Given the description of an element on the screen output the (x, y) to click on. 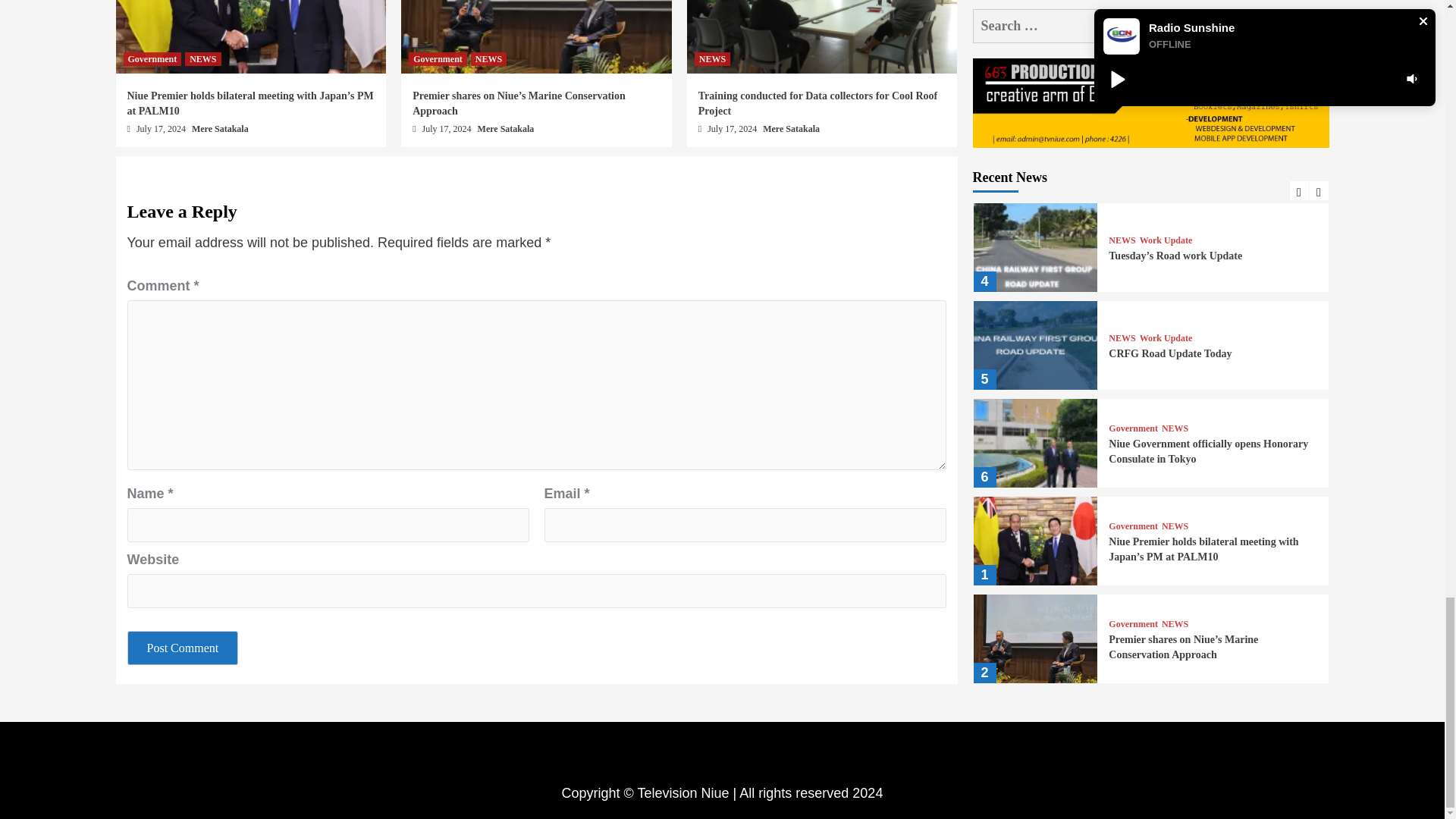
Government (151, 59)
NEWS (488, 59)
Mere Satakala (220, 128)
Training conducted for Data collectors for Cool Roof Project (817, 103)
NEWS (202, 59)
NEWS (712, 59)
Mere Satakala (790, 128)
Mere Satakala (505, 128)
Government (438, 59)
Post Comment (183, 647)
Post Comment (183, 647)
